Given the description of an element on the screen output the (x, y) to click on. 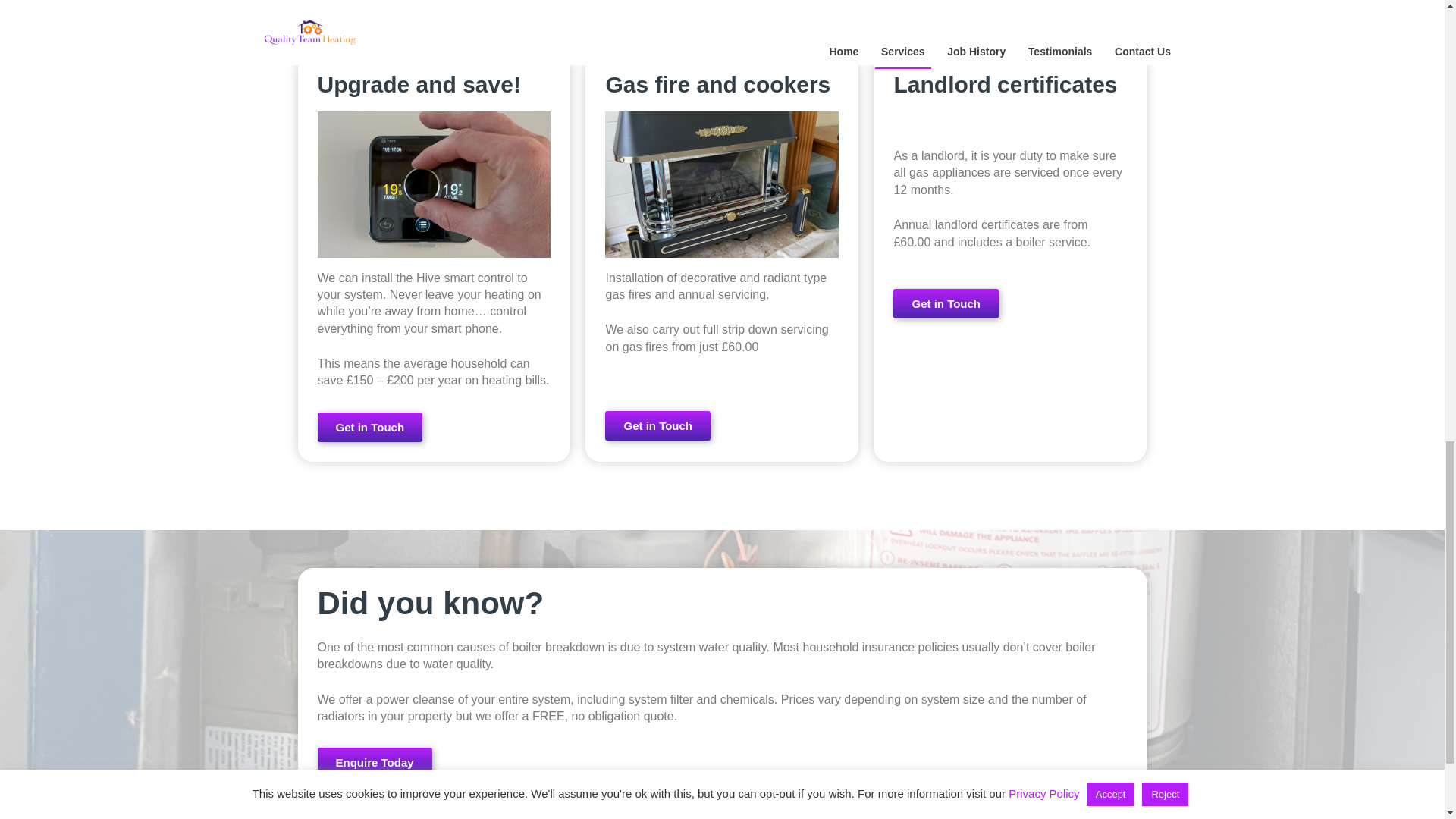
Enquire Today (373, 762)
Get in Touch (945, 303)
Get in Touch (369, 427)
Get in Touch (657, 425)
